Given the description of an element on the screen output the (x, y) to click on. 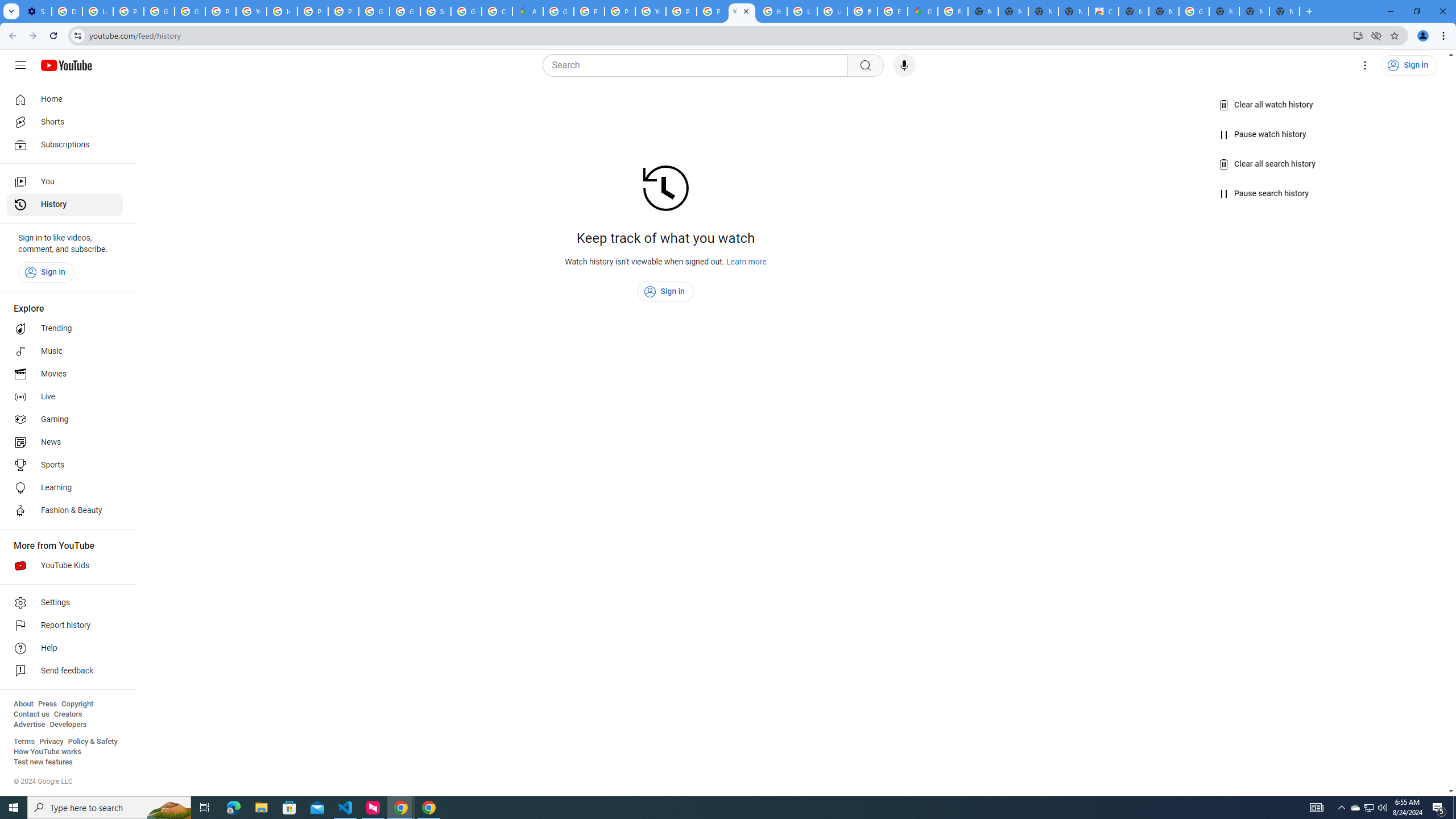
Delete photos & videos - Computer - Google Photos Help (66, 11)
Contact us (31, 714)
Create your Google Account (496, 11)
